Given the description of an element on the screen output the (x, y) to click on. 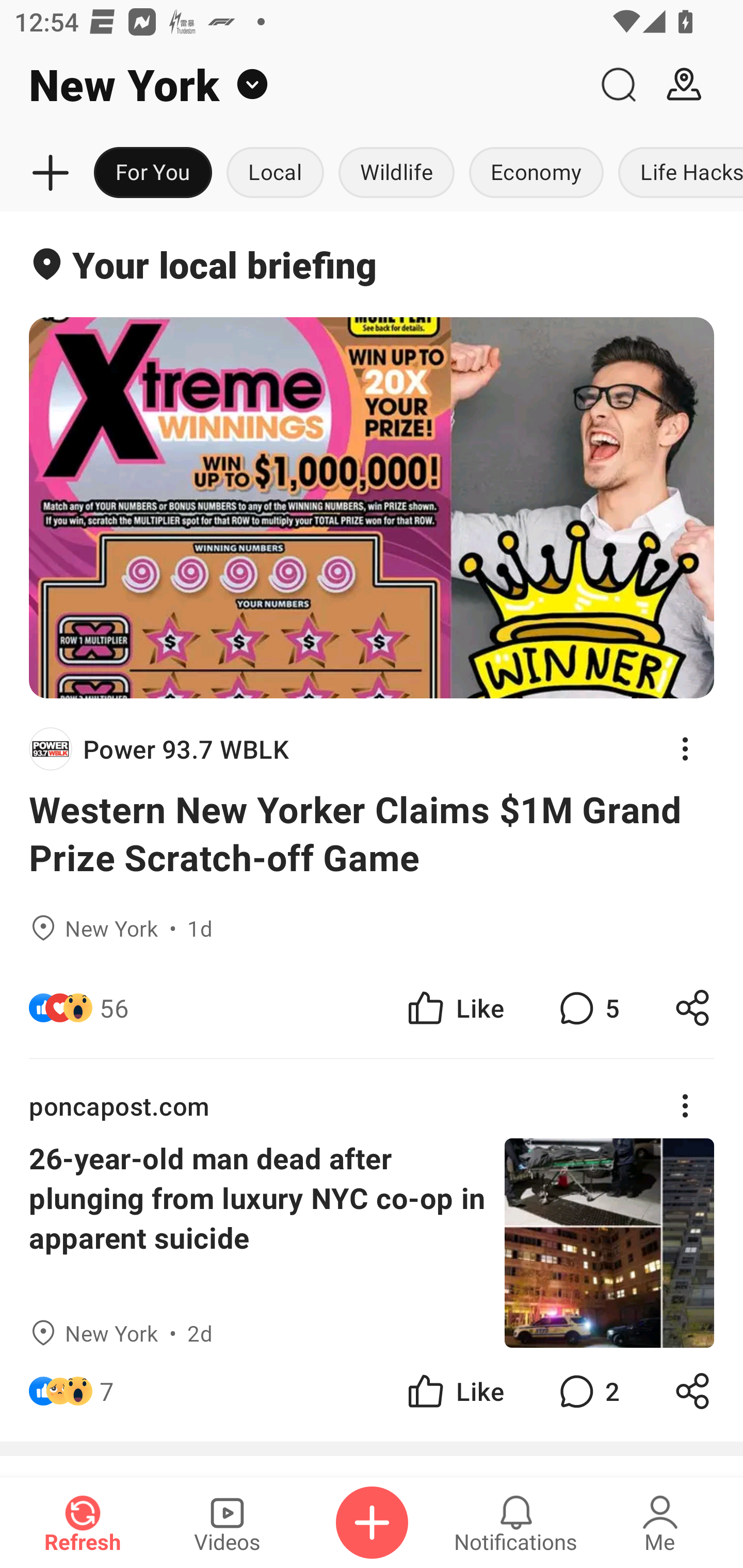
New York (292, 84)
For You (152, 172)
Local (275, 172)
Wildlife (396, 172)
Economy (536, 172)
Life Hacks (676, 172)
56 (113, 1007)
Like (454, 1007)
5 (587, 1007)
7 (106, 1391)
Like (454, 1391)
2 (587, 1391)
Videos (227, 1522)
Notifications (516, 1522)
Me (659, 1522)
